Given the description of an element on the screen output the (x, y) to click on. 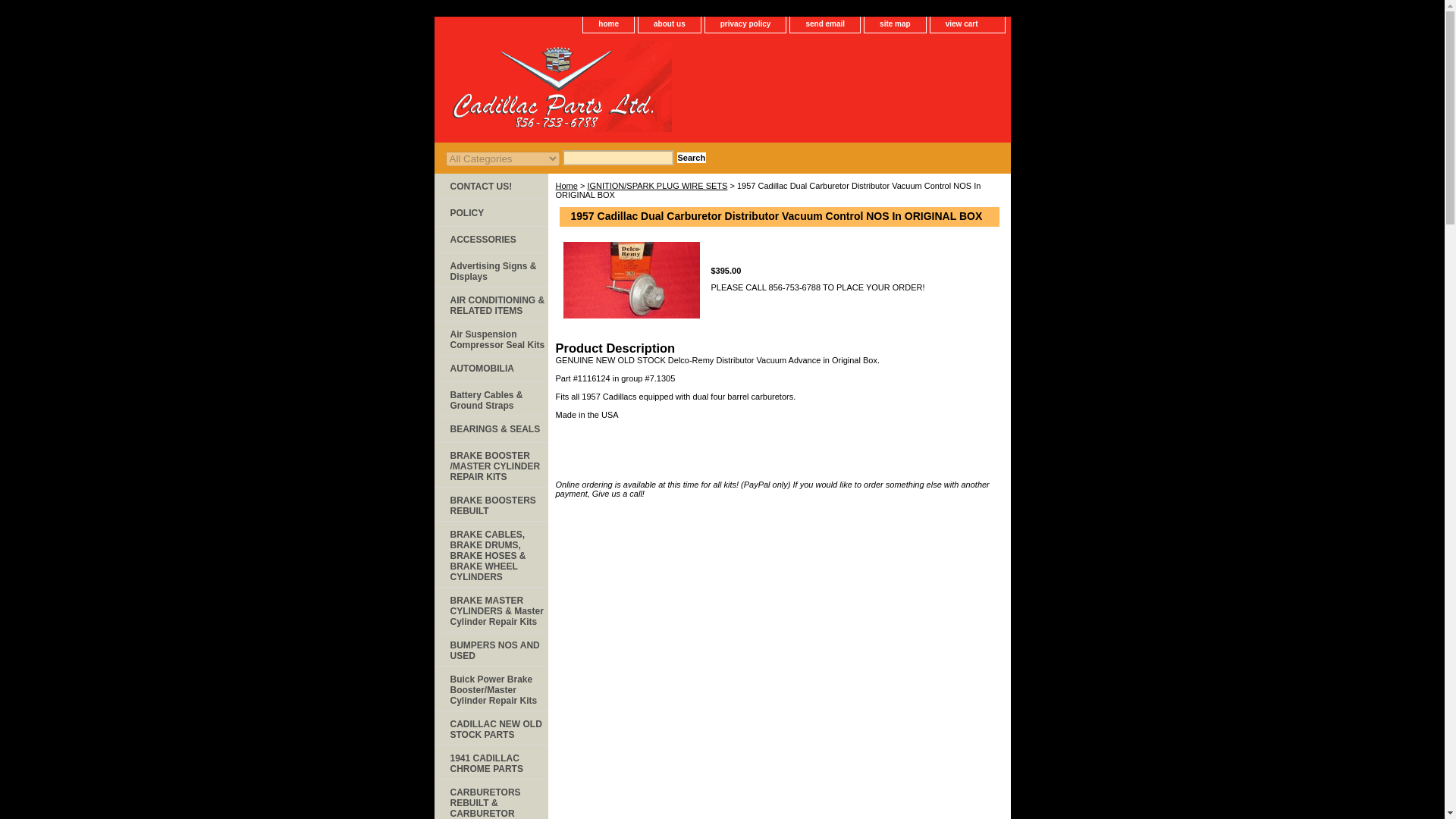
BUMPERS NOS AND USED  (490, 649)
BRAKE BOOSTERS REBUILT (490, 504)
1941 CADILLAC CHROME PARTS (490, 762)
ACCESSORIES (490, 239)
send email (825, 24)
POLICY (490, 212)
site map (895, 24)
home (608, 24)
privacy policy (745, 24)
about us (669, 24)
CADILLAC NEW OLD STOCK PARTS (490, 728)
CADILLAC NEW OLD STOCK PARTS  (490, 728)
AUTOMOBILIA (490, 368)
CONTACT US! (490, 186)
BUMPERS NOS AND USED (490, 649)
